Given the description of an element on the screen output the (x, y) to click on. 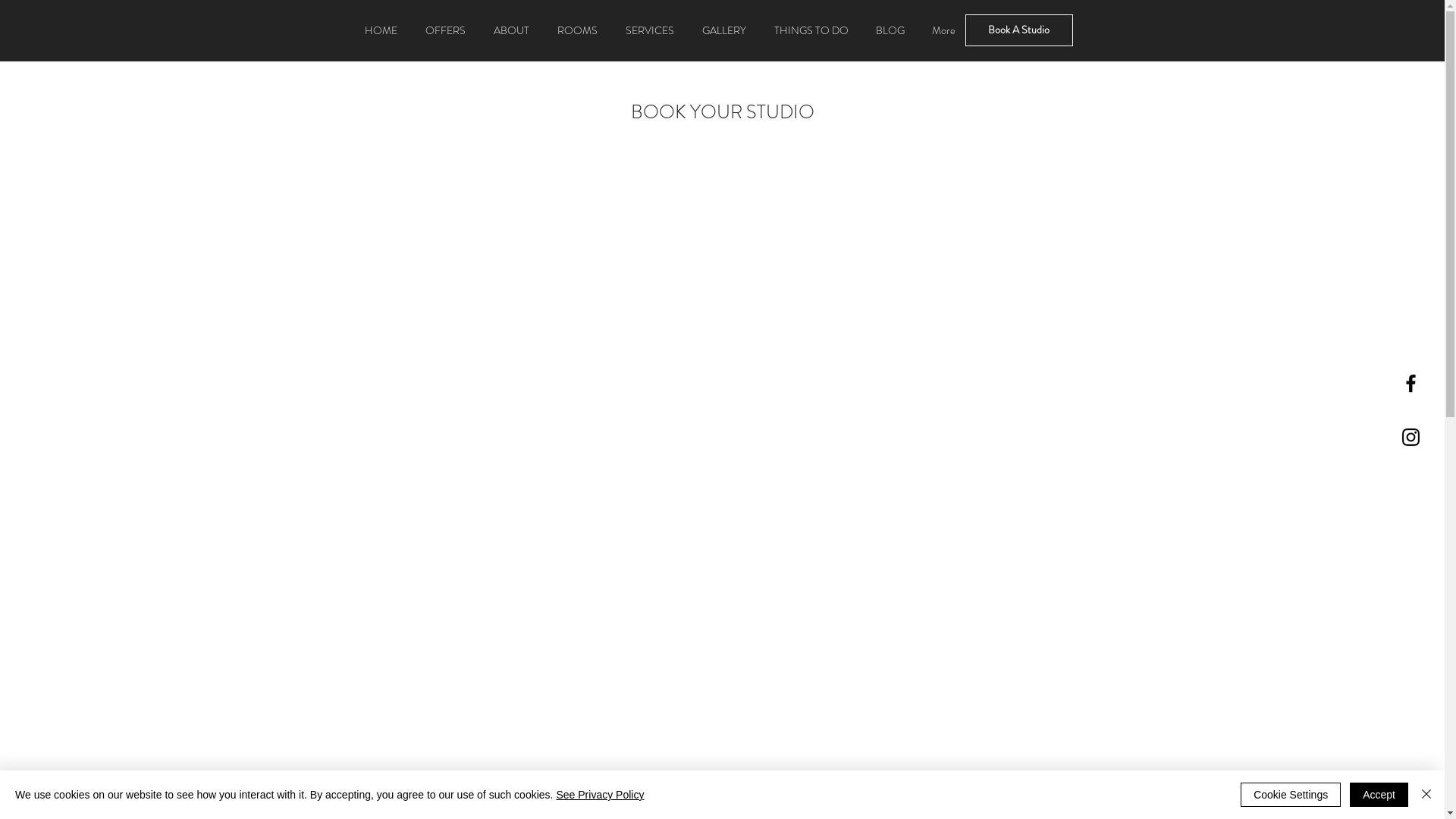
OFFERS Element type: text (445, 30)
See Privacy Policy Element type: text (599, 794)
Book A Studio Element type: text (1018, 30)
Cookie Settings Element type: text (1290, 794)
HOME Element type: text (380, 30)
SERVICES Element type: text (649, 30)
ROOMS Element type: text (576, 30)
BLOG Element type: text (889, 30)
ABOUT Element type: text (510, 30)
GALLERY Element type: text (724, 30)
Accept Element type: text (1378, 794)
THINGS TO DO Element type: text (810, 30)
